Given the description of an element on the screen output the (x, y) to click on. 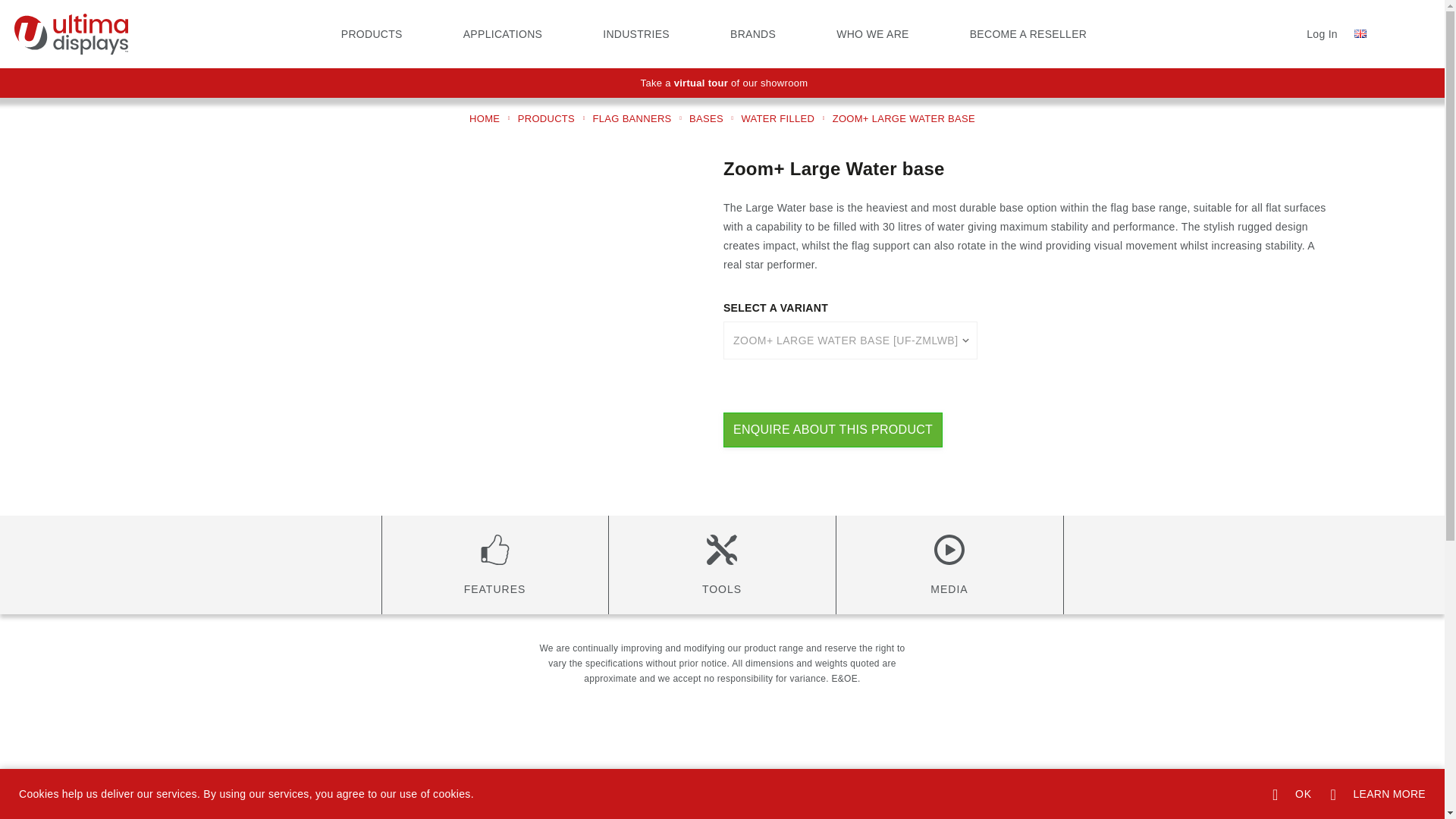
PRODUCTS (371, 33)
English (1360, 33)
English (1360, 33)
